Given the description of an element on the screen output the (x, y) to click on. 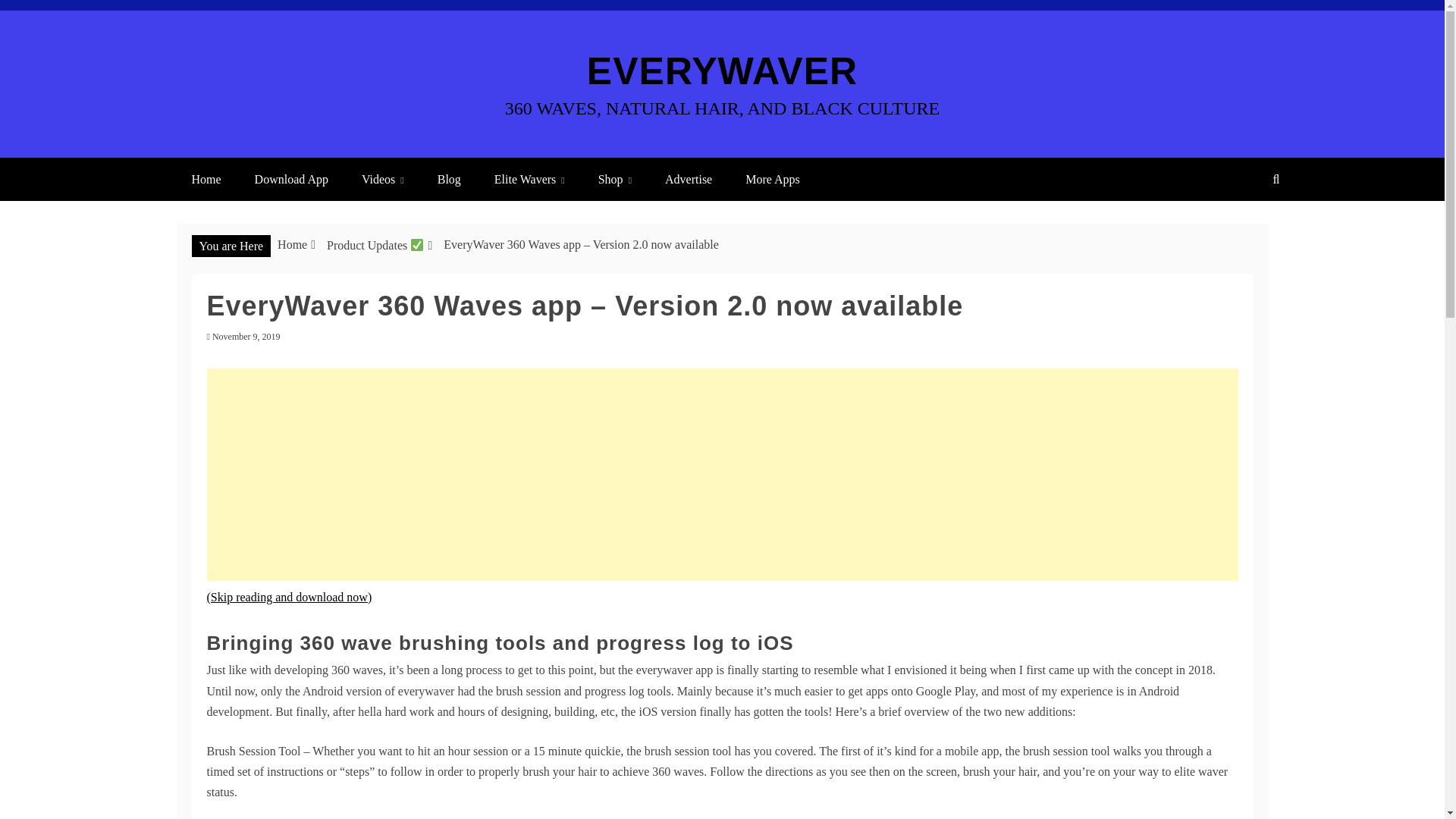
November 9, 2019 (246, 336)
More Apps (772, 179)
Product Updates (374, 245)
Product Updates (231, 313)
Shop (614, 179)
Elite Wavers (529, 179)
Download App (291, 179)
EVERYWAVER (721, 70)
Home (205, 179)
Videos (382, 179)
